Given the description of an element on the screen output the (x, y) to click on. 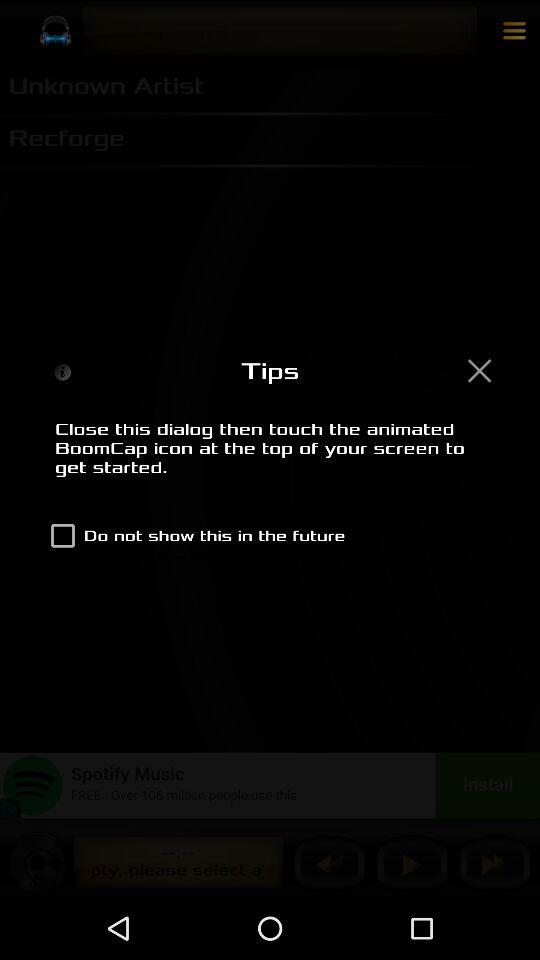
click icon below close this dialog (193, 535)
